Given the description of an element on the screen output the (x, y) to click on. 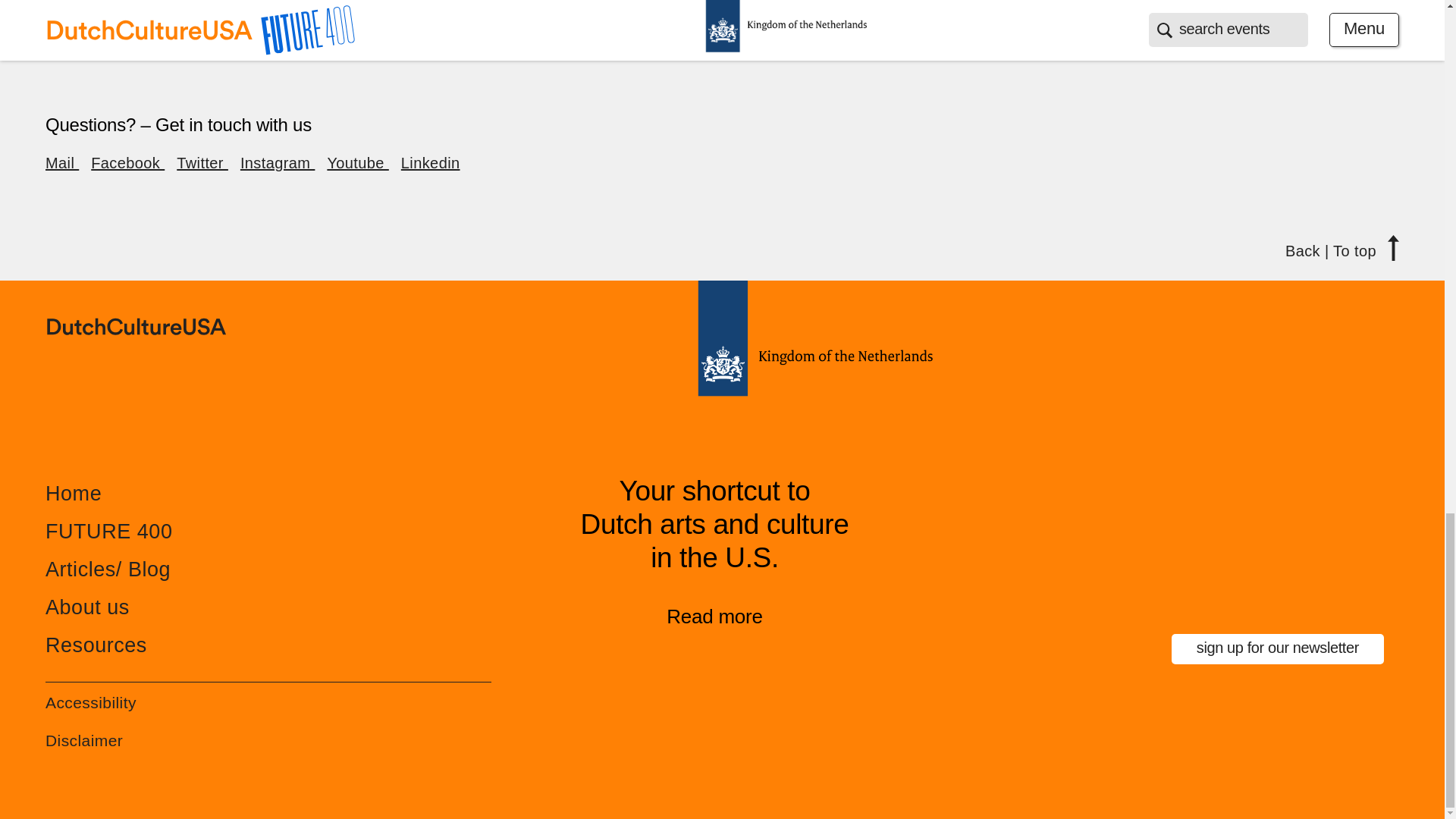
Mail (61, 162)
Instagram (277, 162)
Twitter (202, 162)
Facebook (127, 162)
Youtube (357, 162)
